Given the description of an element on the screen output the (x, y) to click on. 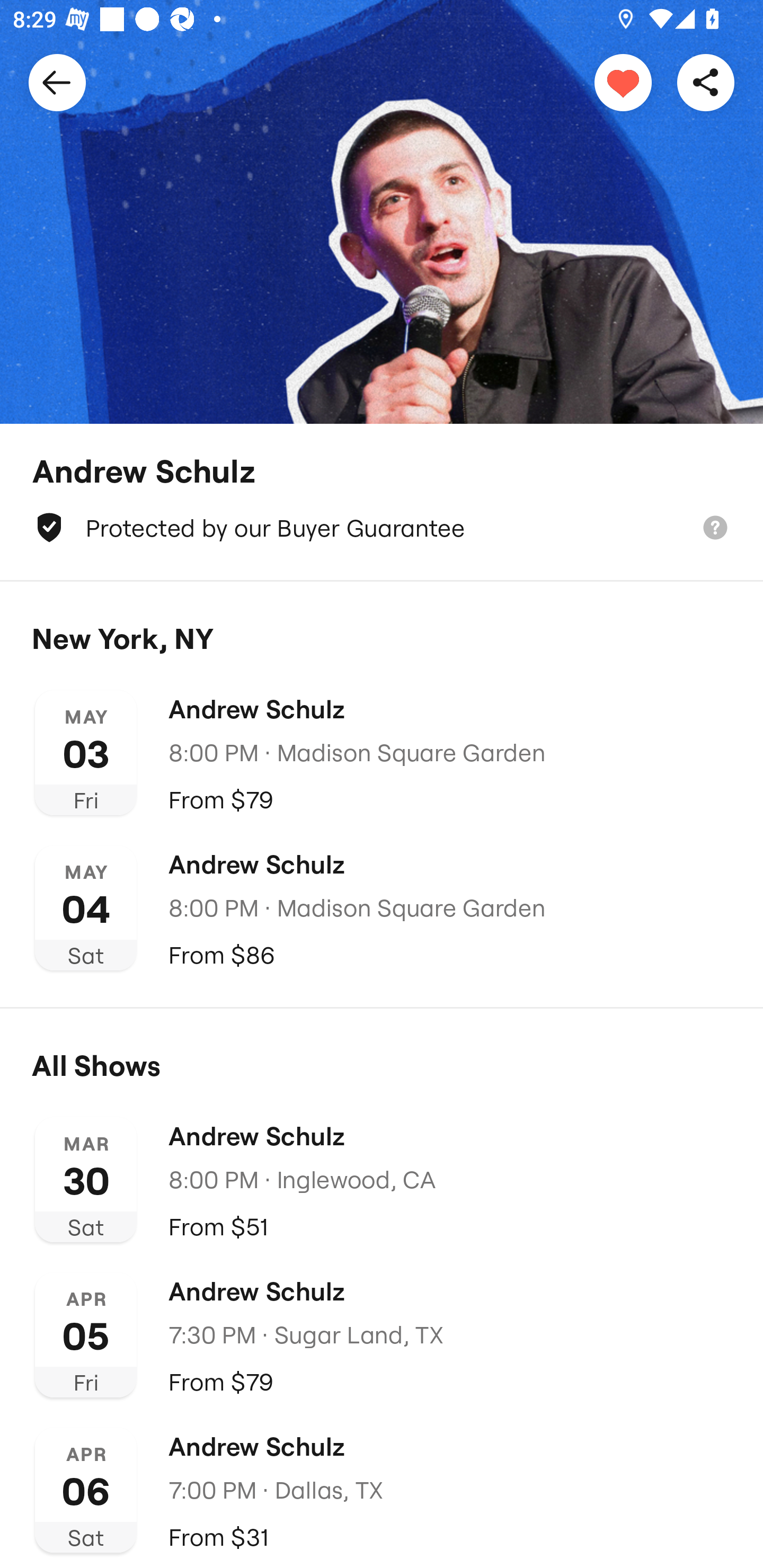
Back (57, 81)
Track this performer (623, 81)
Share this performer (705, 81)
Protected by our Buyer Guarantee Learn more (381, 527)
